Given the description of an element on the screen output the (x, y) to click on. 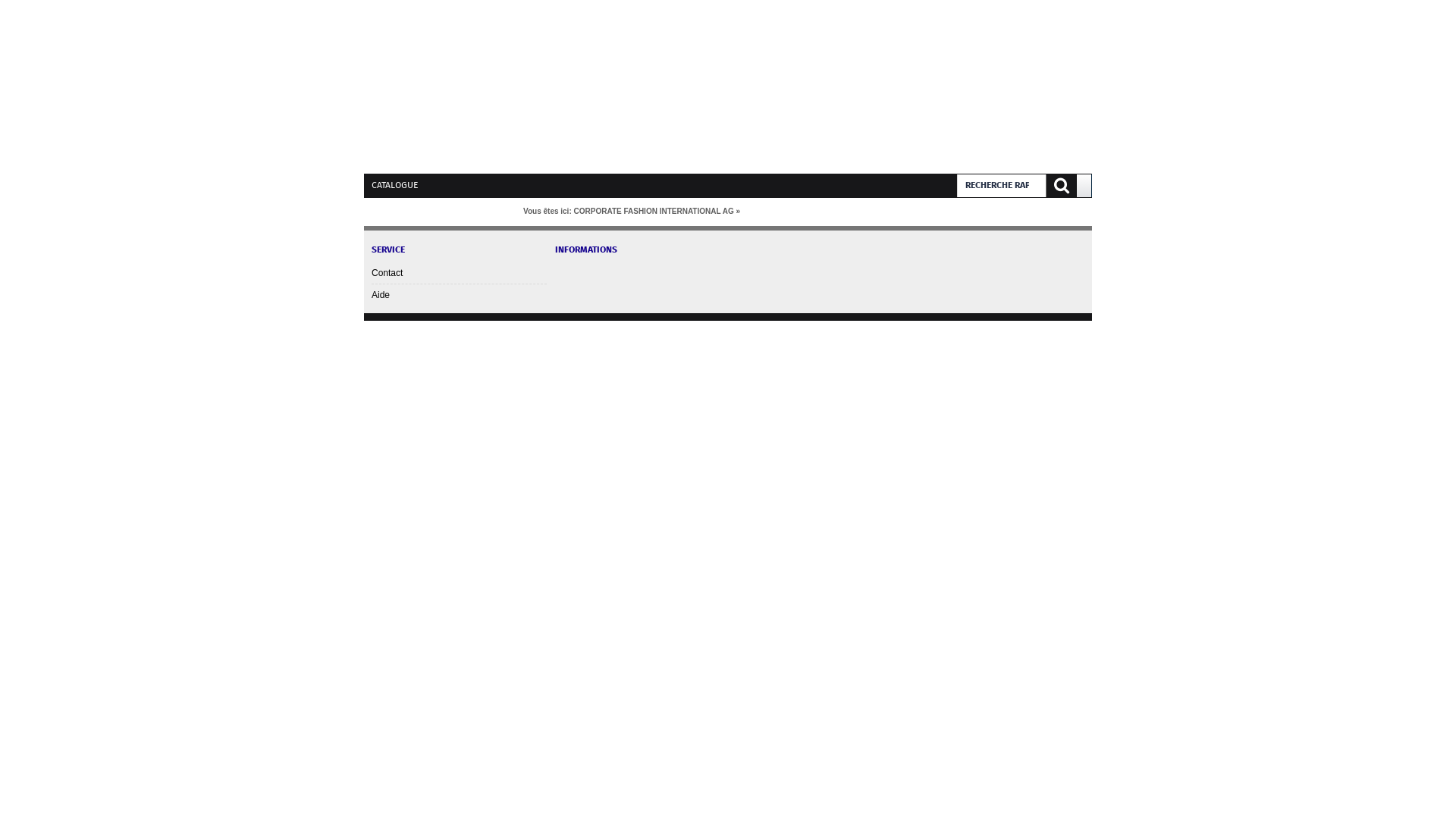
CATALOGUE Element type: text (398, 185)
CORPORATE FASHION INTERNATIONAL AG Element type: text (654, 211)
Contact Element type: text (458, 272)
Aide Element type: text (458, 294)
